Given the description of an element on the screen output the (x, y) to click on. 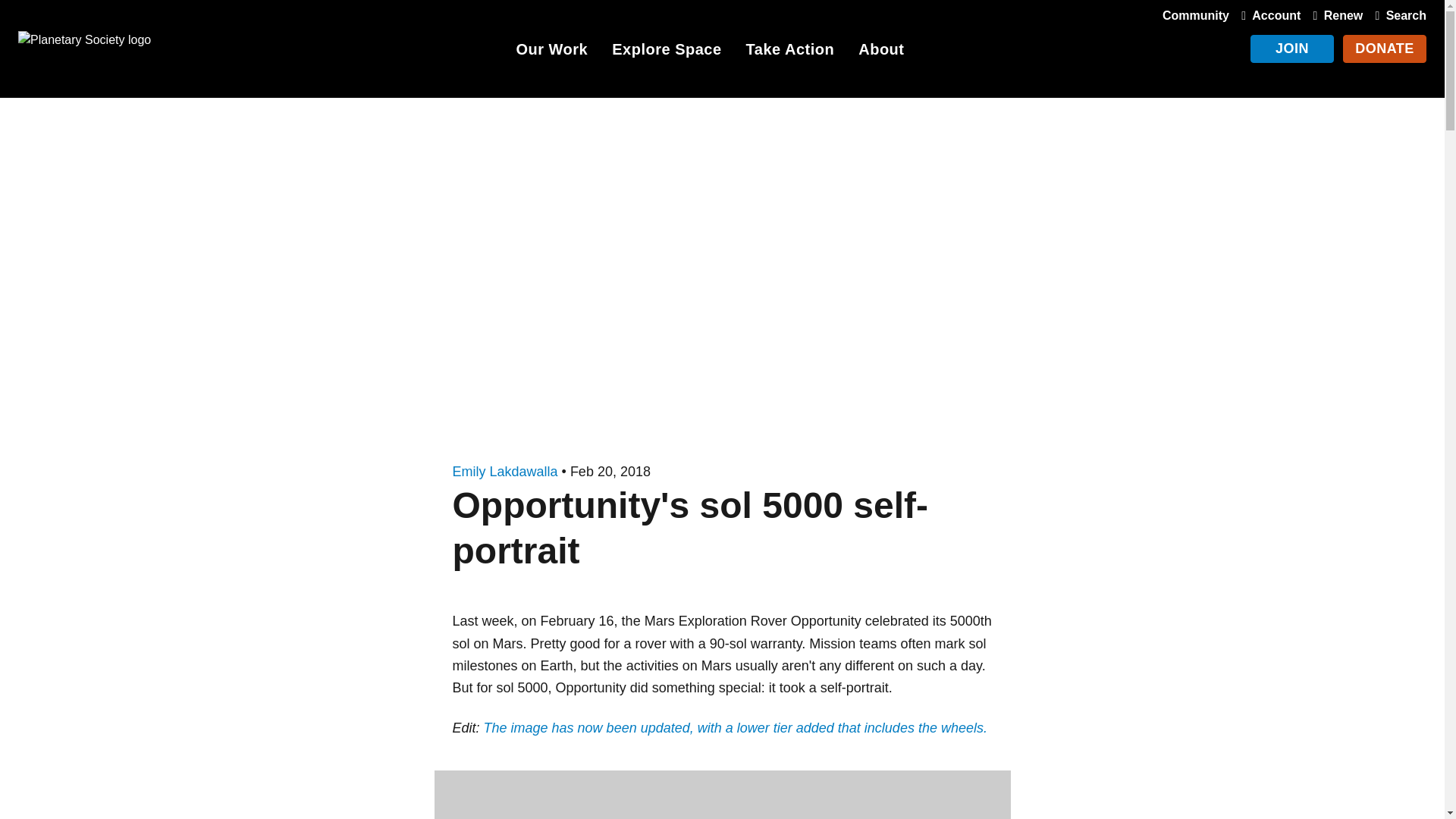
Explore Space (665, 51)
Account (1267, 15)
Community (1194, 15)
About (881, 51)
Renew (1334, 15)
Take Action (789, 51)
Search (1397, 15)
JOIN (1291, 49)
Our Work (551, 51)
DONATE (1384, 49)
